Given the description of an element on the screen output the (x, y) to click on. 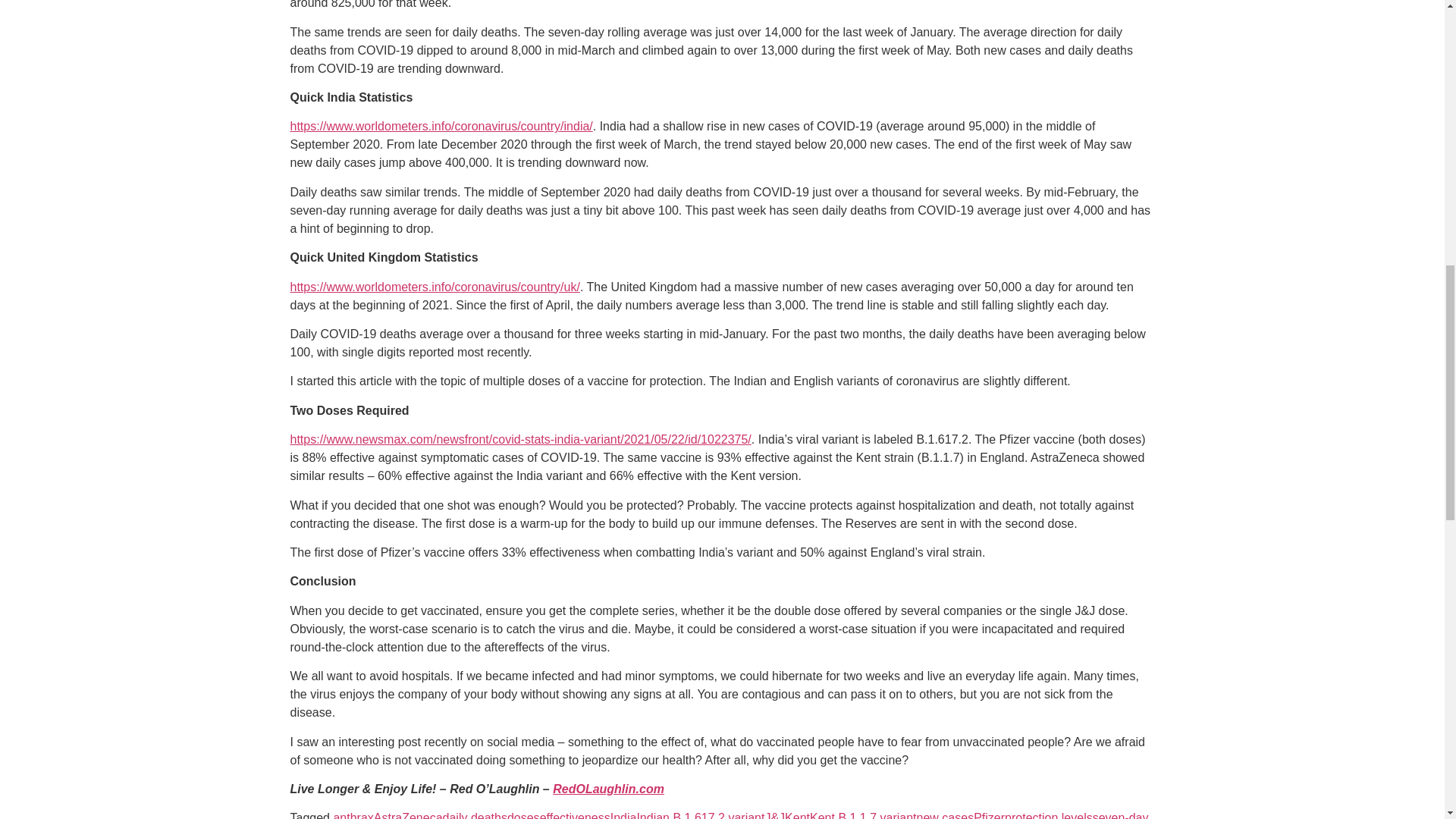
India (623, 815)
daily deaths (474, 815)
Kent (796, 815)
Pfizer (989, 815)
Kent B.1.1.7 variant (863, 815)
AstraZeneca (408, 815)
RedOLaughlin.com (608, 788)
effectiveness (575, 815)
protection levels (1048, 815)
